Given the description of an element on the screen output the (x, y) to click on. 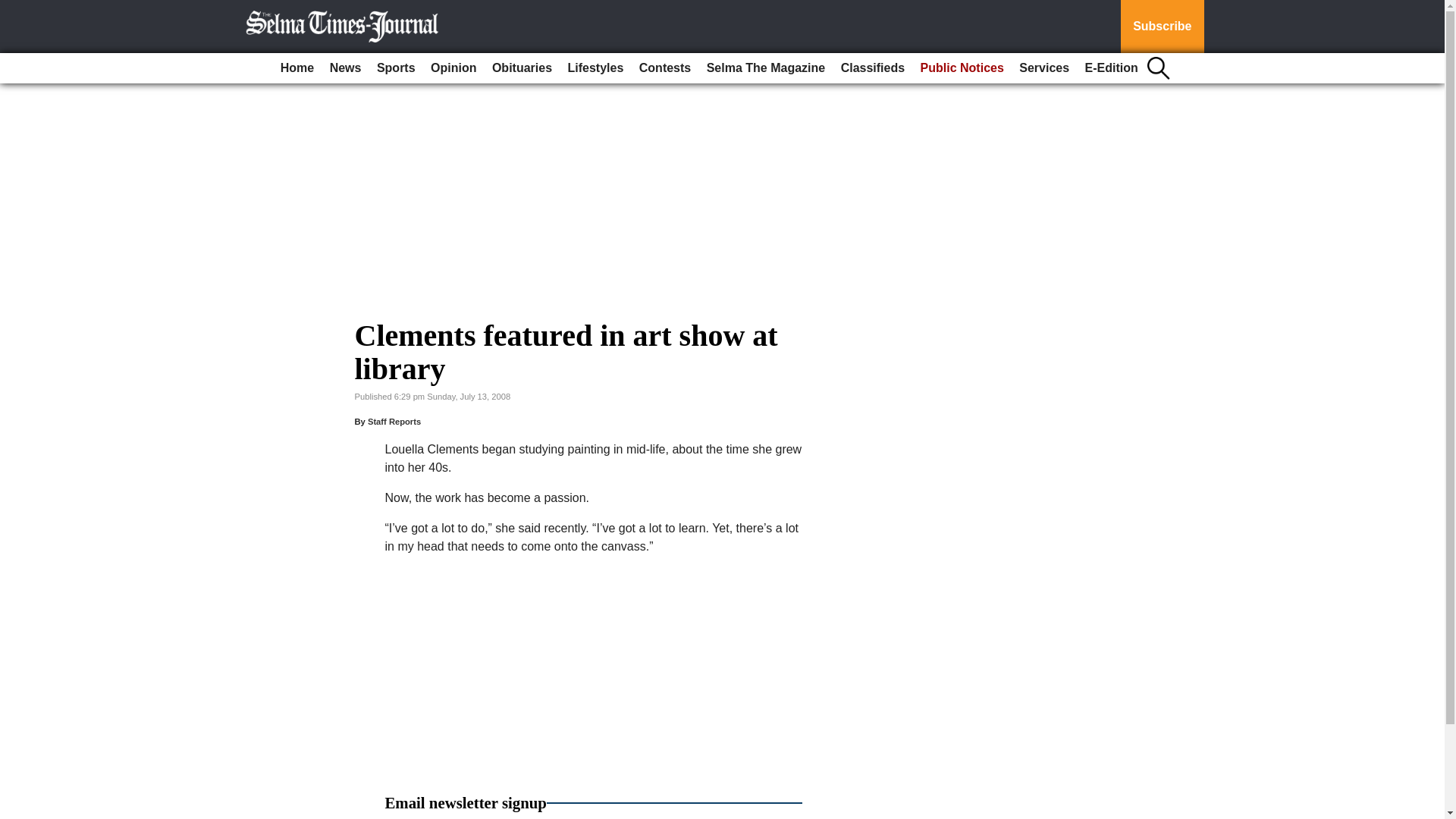
Selma The Magazine (765, 68)
E-Edition (1111, 68)
Go (13, 9)
Contests (665, 68)
Public Notices (962, 68)
Obituaries (521, 68)
Sports (396, 68)
Classifieds (872, 68)
Staff Reports (394, 420)
News (345, 68)
